Given the description of an element on the screen output the (x, y) to click on. 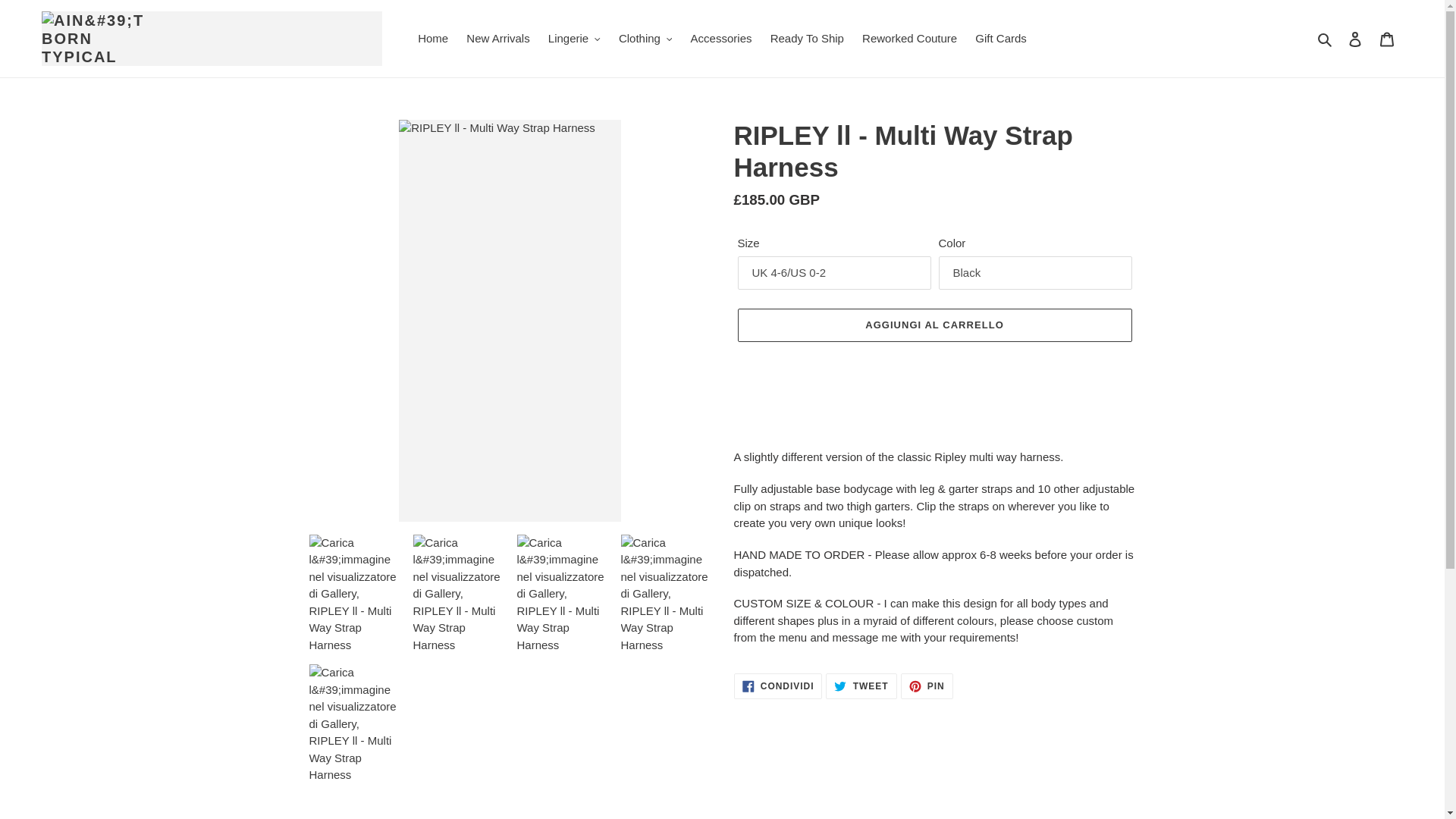
Ready To Ship (806, 38)
Carrello (1387, 38)
Gift Cards (1000, 38)
Home (432, 38)
Accedi (1355, 38)
Lingerie (574, 38)
Clothing (645, 38)
Accessories (721, 38)
Reworked Couture (908, 38)
New Arrivals (497, 38)
Cerca (1326, 38)
